Given the description of an element on the screen output the (x, y) to click on. 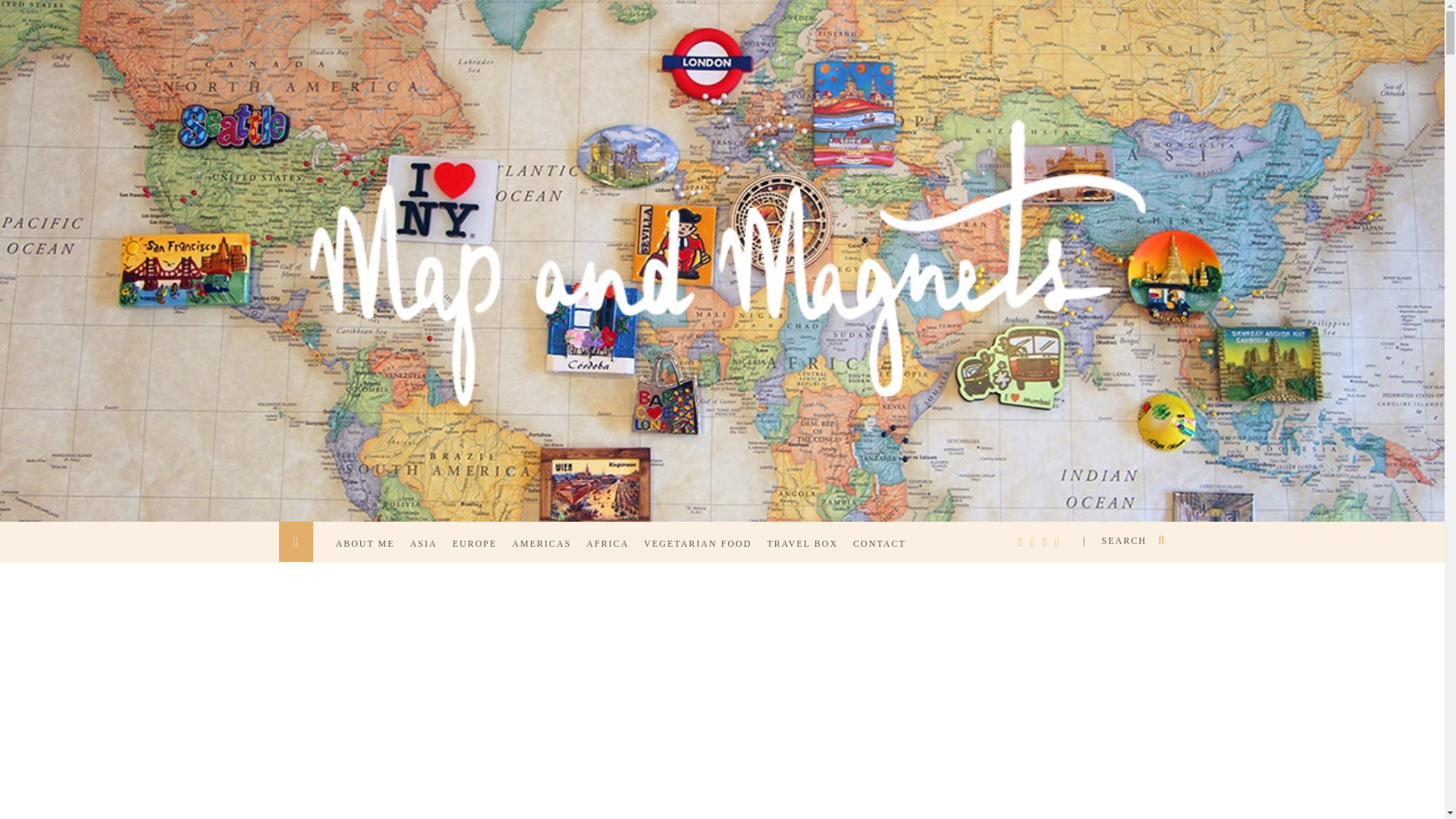
ASIA (427, 552)
ABOUT ME (367, 552)
